Given the description of an element on the screen output the (x, y) to click on. 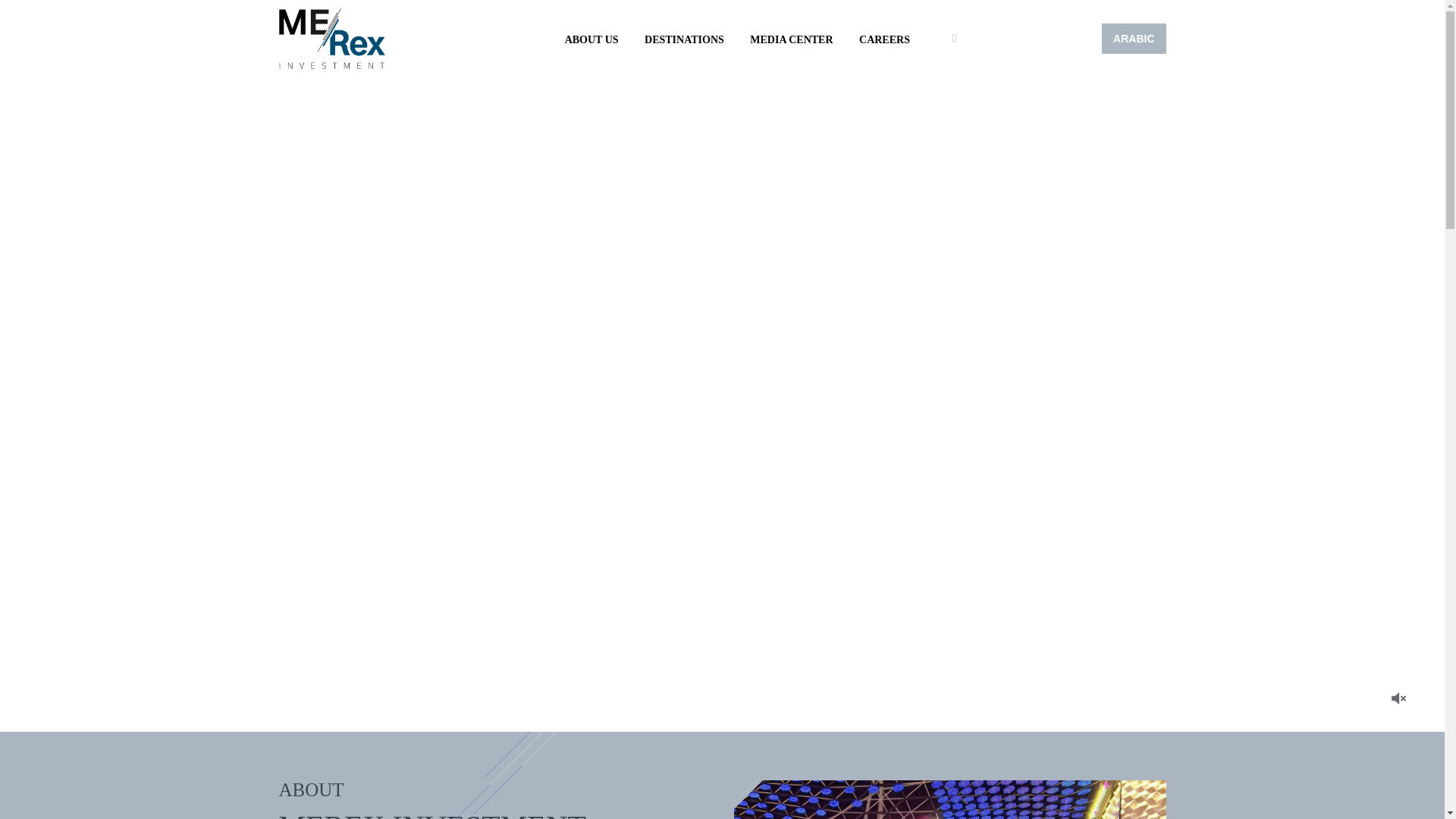
Search (1101, 87)
ARABIC (1134, 38)
DESTINATIONS (684, 40)
ABOUT US (591, 40)
MEDIA CENTER (791, 40)
CAREERS (884, 40)
